Given the description of an element on the screen output the (x, y) to click on. 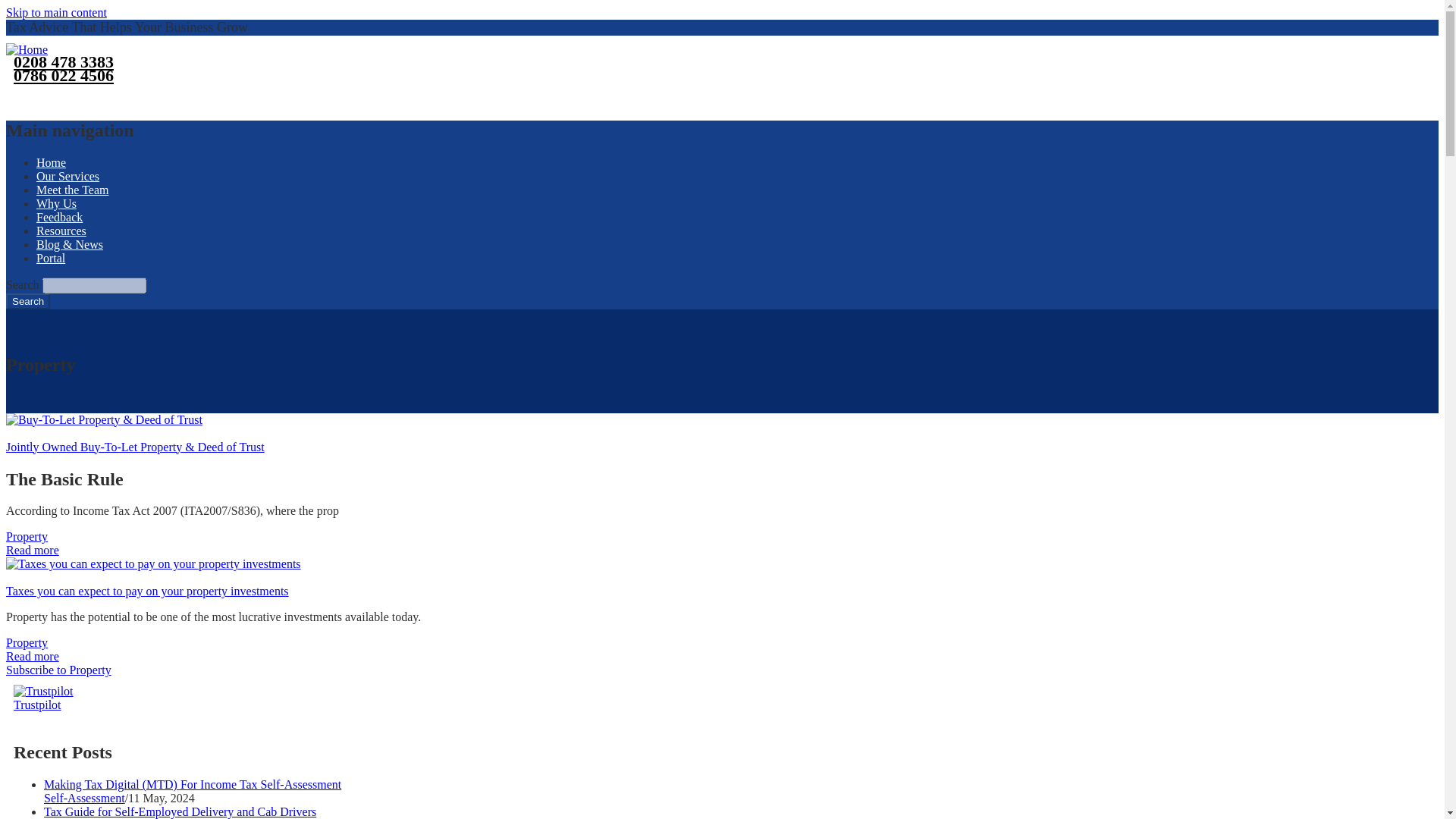
Skip to main content (55, 11)
Home (26, 49)
Property (26, 535)
Self-Assessment (84, 797)
Search (27, 301)
Subscribe to Property (58, 669)
Property (26, 642)
Our Services (67, 175)
Search (27, 301)
Home (50, 162)
Read more (32, 549)
Portal (50, 257)
0786 022 4506 (59, 75)
Why Us (56, 203)
Meet the Team (71, 189)
